Given the description of an element on the screen output the (x, y) to click on. 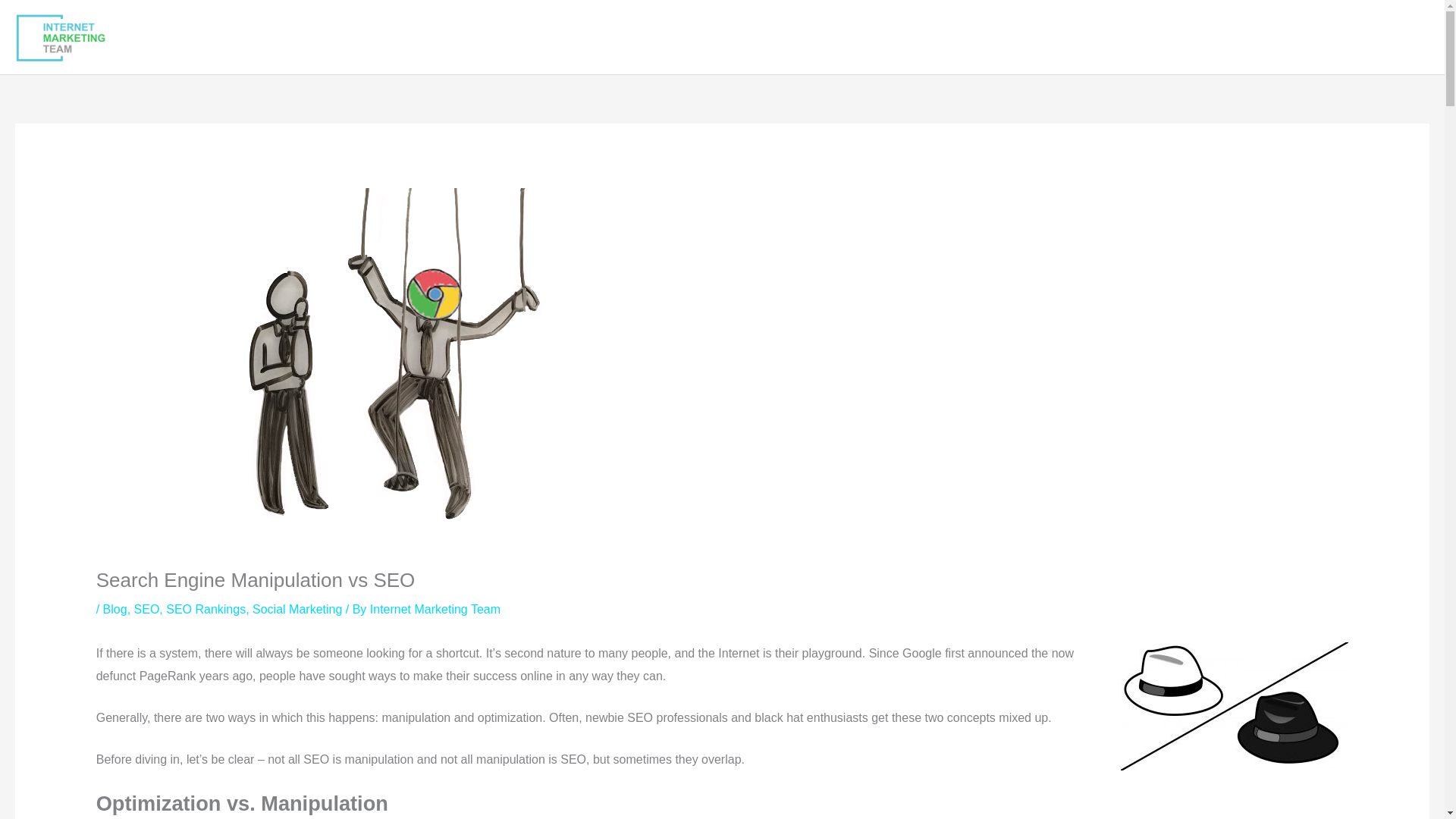
SEO Services (988, 37)
SEO News (1262, 37)
Home (881, 37)
Blog (115, 608)
View all posts by Internet Marketing Team (434, 608)
SEO (146, 608)
SEO Rankings (205, 608)
LETS TALK (1372, 37)
Website Design (1133, 37)
Social Marketing (296, 608)
Internet Marketing Team (434, 608)
